Given the description of an element on the screen output the (x, y) to click on. 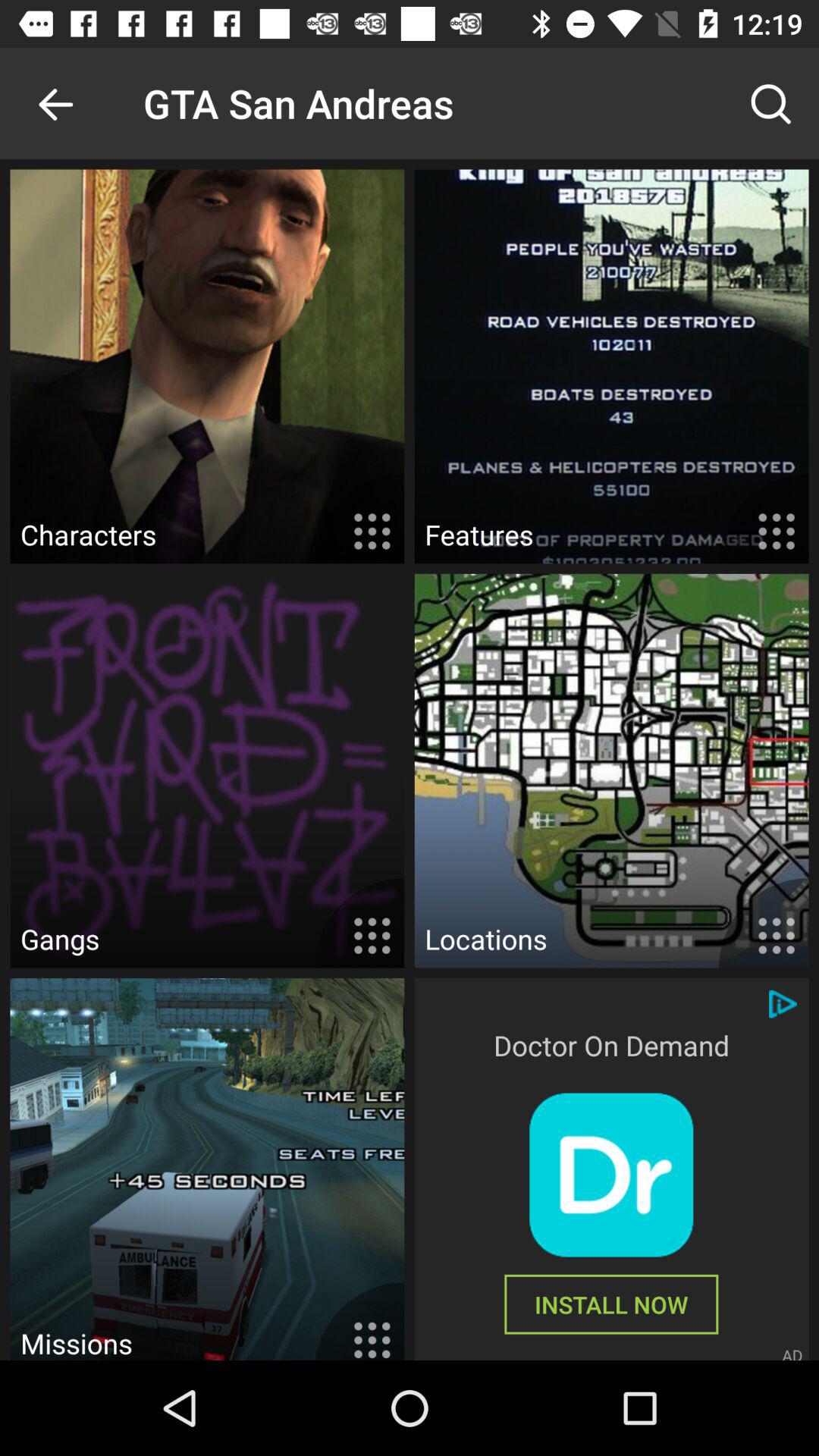
tap item below the doctor on demand icon (611, 1174)
